Given the description of an element on the screen output the (x, y) to click on. 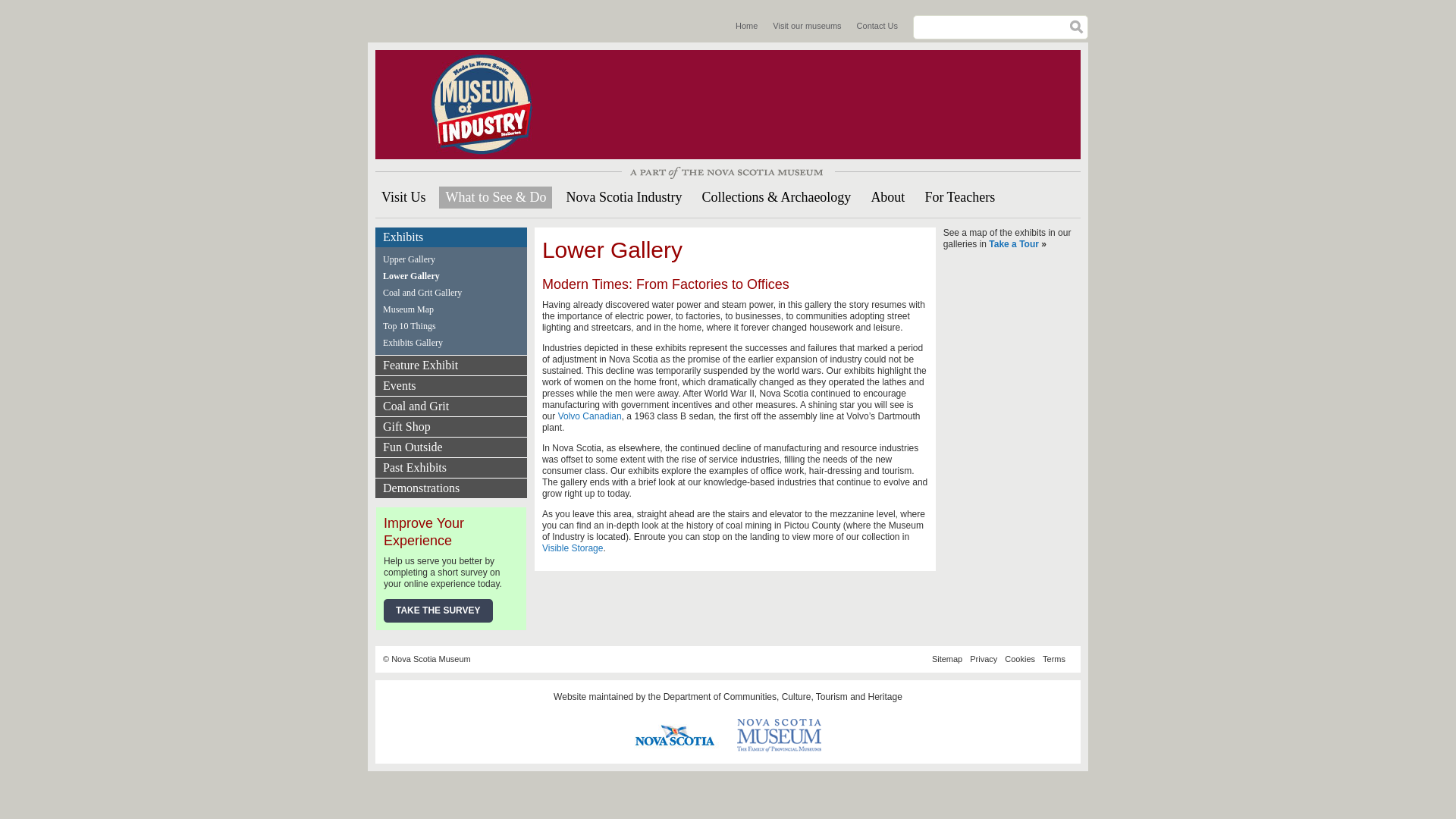
Contact Us (877, 25)
Home (488, 103)
Visit Us (402, 197)
About (887, 197)
Exhibits (451, 237)
Coal and Grit Gallery (451, 292)
Upper Gallery (451, 258)
Lower Gallery (451, 275)
Visit Us (402, 197)
Museum Map (451, 309)
